Given the description of an element on the screen output the (x, y) to click on. 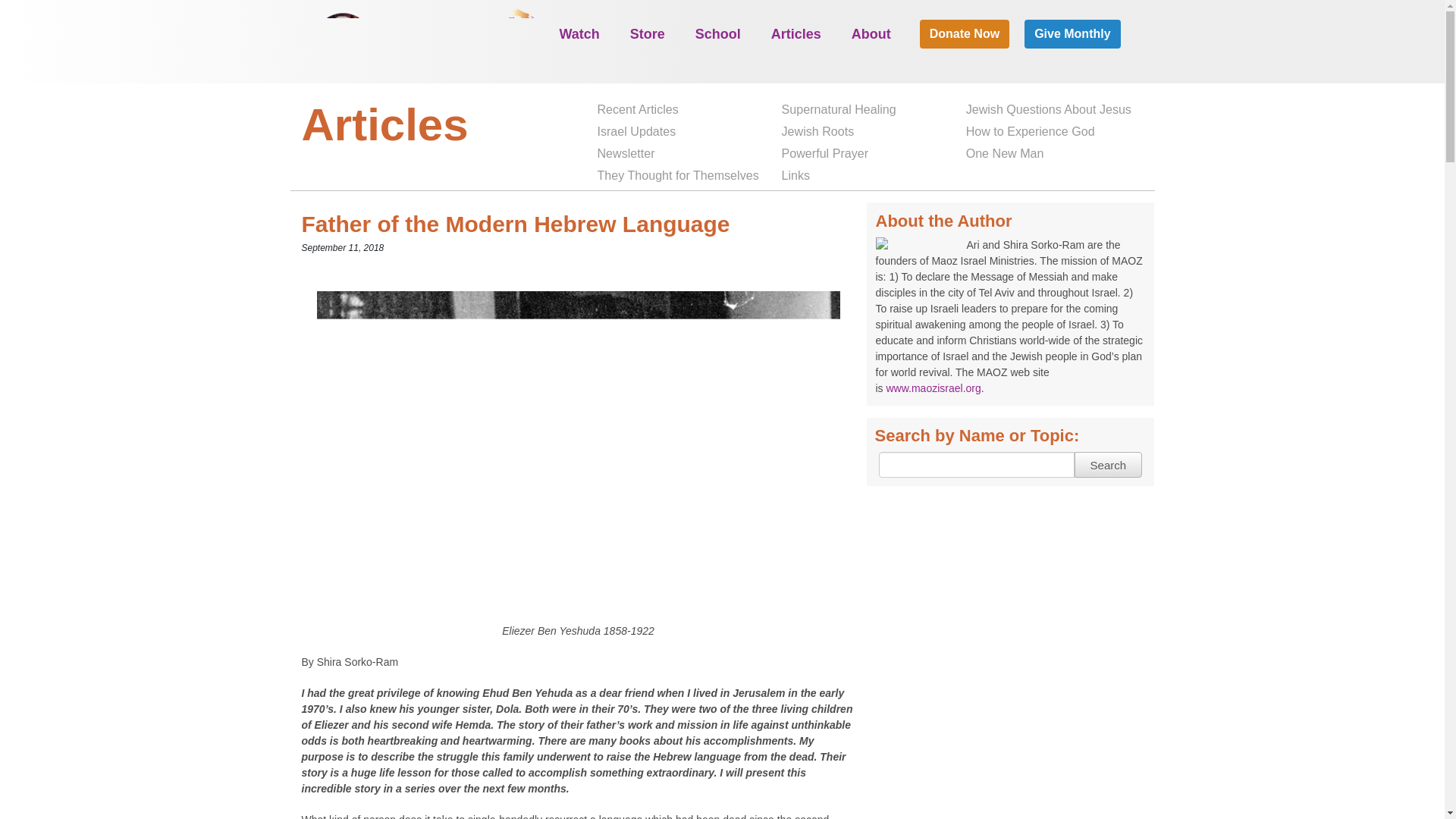
Powerful Prayer (825, 153)
Store (647, 33)
Search (1107, 464)
Newsletter (625, 153)
Israel Updates (635, 131)
Watch (579, 33)
Recent Articles (637, 109)
About (871, 33)
Jewish Questions About Jesus (1048, 109)
School (717, 33)
Donate Now (964, 33)
Supernatural Healing (839, 109)
Articles (795, 33)
Jewish Roots (817, 131)
They Thought for Themselves (677, 175)
